Given the description of an element on the screen output the (x, y) to click on. 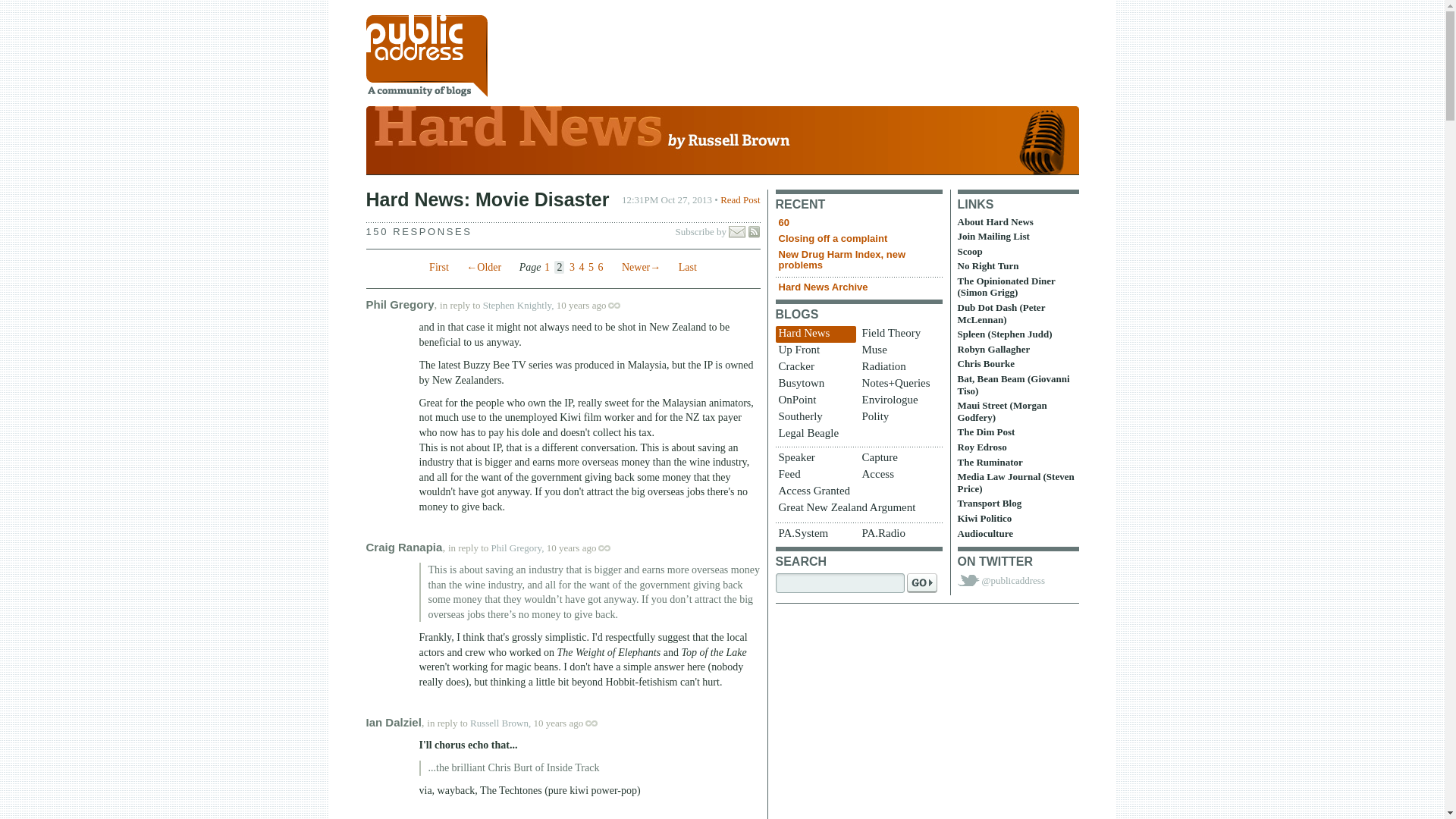
Read Post (740, 199)
10 years ago (586, 547)
First (438, 266)
Ian Dalziel (392, 721)
10 years ago (572, 722)
Hard News (721, 143)
Russell Brown, (500, 722)
10 years ago (596, 305)
09:02 Oct 28, 2013 (571, 547)
Phil Gregory, (518, 547)
